Given the description of an element on the screen output the (x, y) to click on. 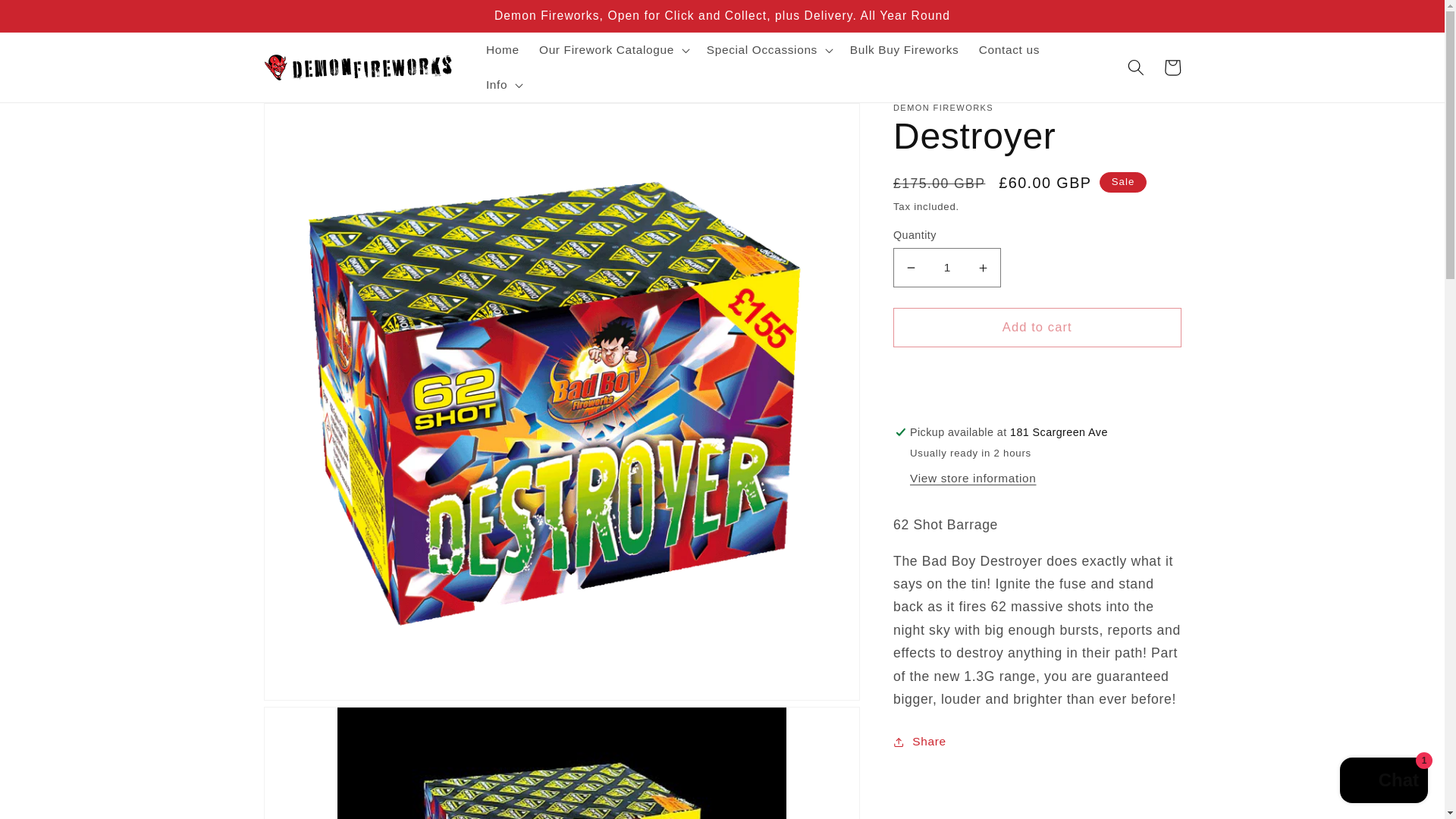
Shopify online store chat (1383, 781)
Home (502, 49)
Skip to content (50, 19)
1 (947, 267)
